Given the description of an element on the screen output the (x, y) to click on. 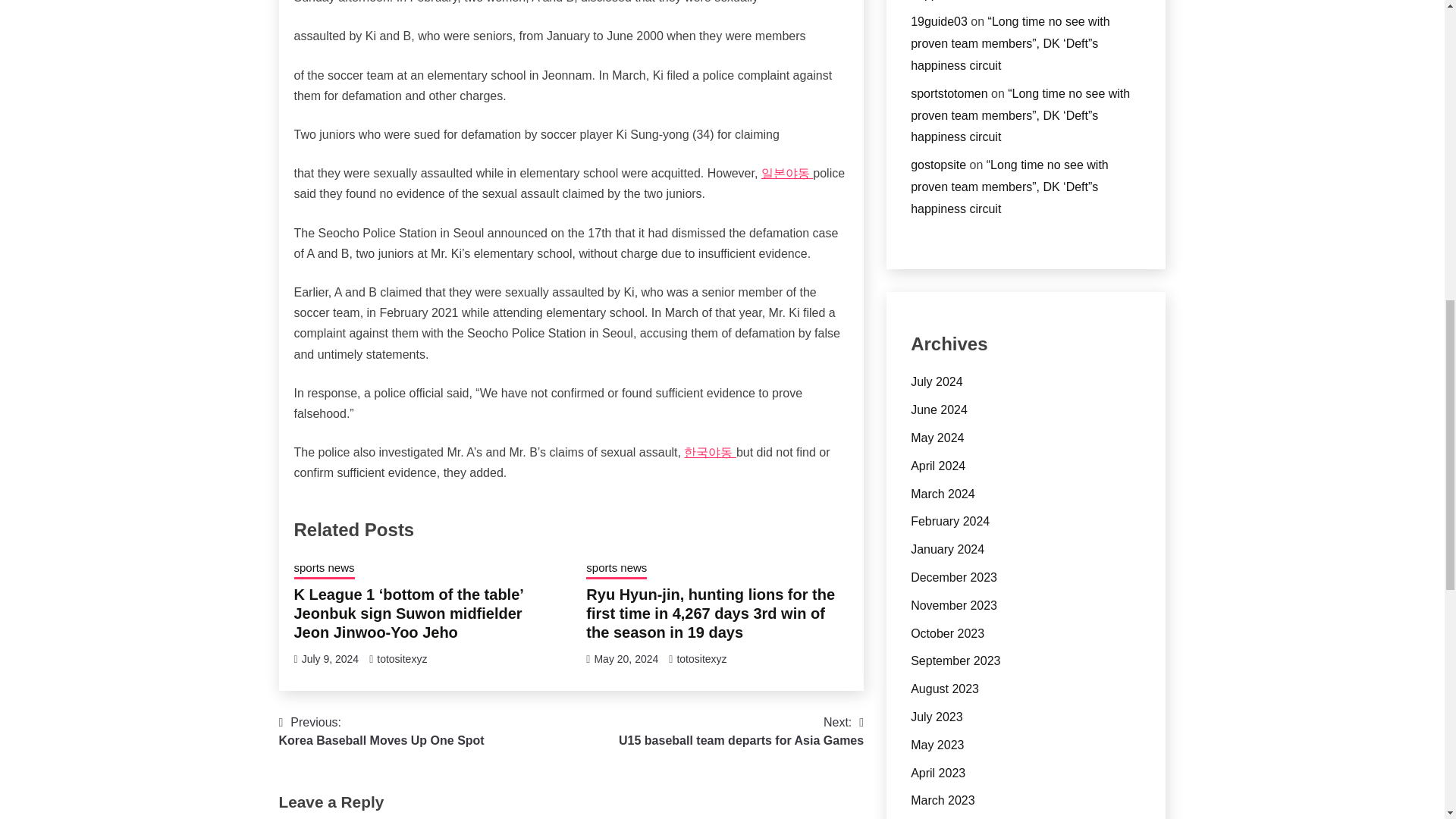
sports news (616, 569)
July 9, 2024 (330, 658)
19guide03 (939, 21)
sportstotomen (949, 92)
totositexyz (381, 731)
May 20, 2024 (401, 658)
sports news (626, 658)
totositexyz (324, 569)
